Given the description of an element on the screen output the (x, y) to click on. 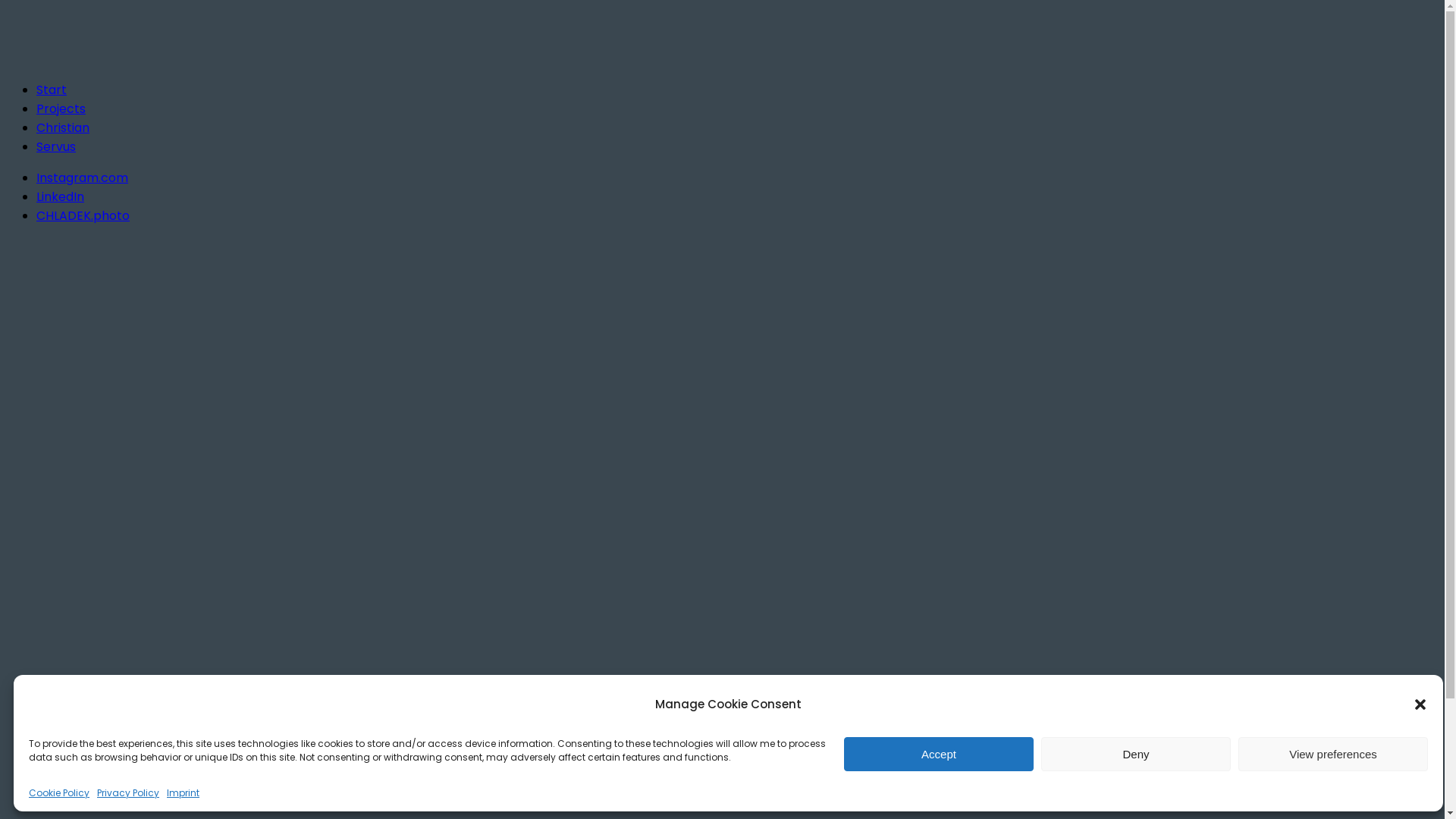
LinkedIn Element type: text (60, 196)
View preferences Element type: text (1332, 754)
Accept Element type: text (938, 754)
Instagram.com Element type: text (82, 177)
CHLADEK.photo Element type: text (82, 215)
Servus Element type: text (55, 146)
Christian Element type: text (62, 127)
Projects Element type: text (60, 108)
Cookie Policy Element type: text (58, 793)
Deny Element type: text (1135, 754)
Imprint Element type: text (182, 793)
Privacy Policy Element type: text (128, 793)
Start Element type: text (51, 89)
